Given the description of an element on the screen output the (x, y) to click on. 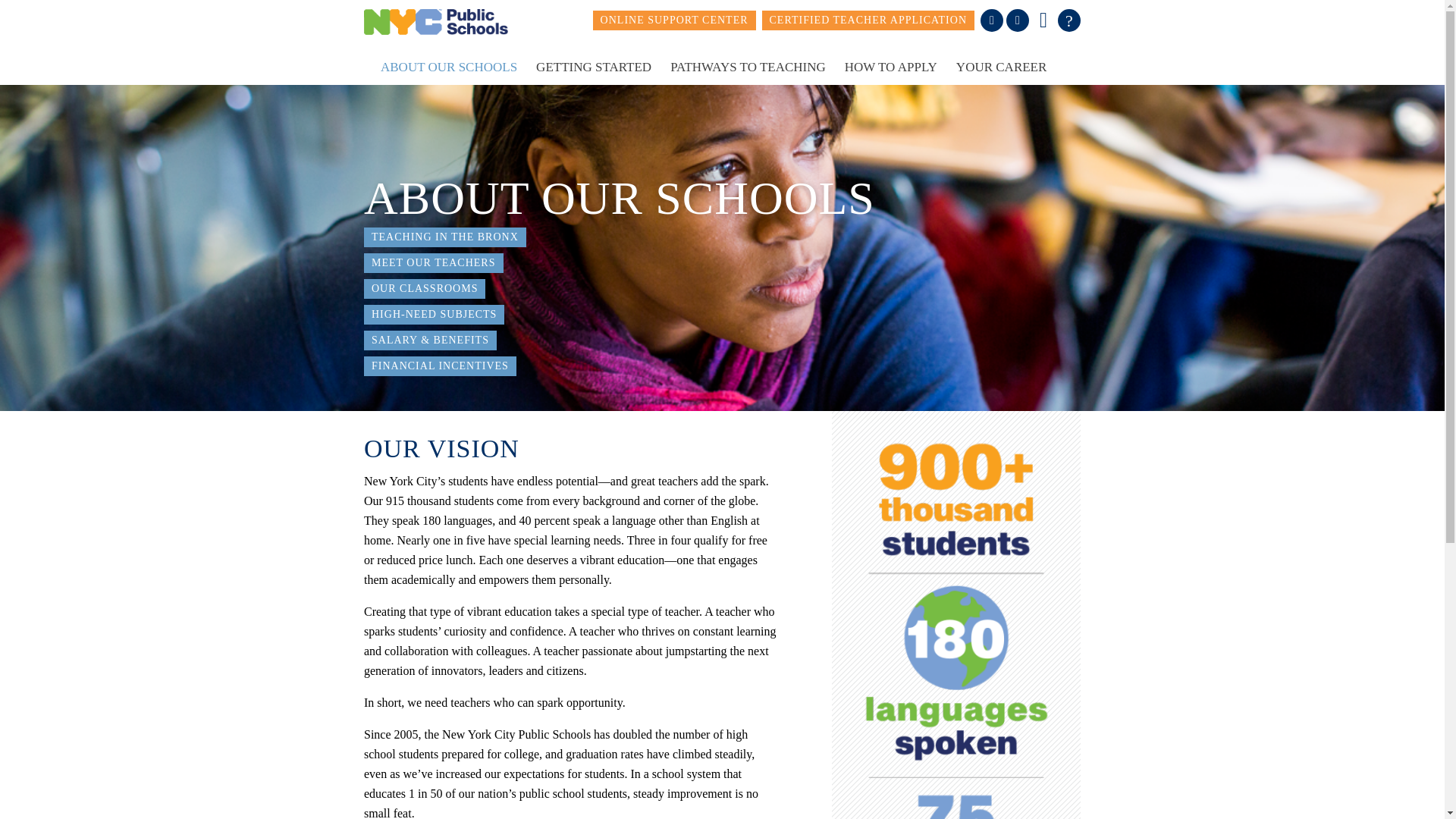
Instagram (1043, 20)
YOUR CAREER (1001, 67)
ABOUT OUR SCHOOLS (448, 67)
CERTIFIED TEACHER APPLICATION (867, 20)
linkedIn (1017, 20)
GETTING STARTED (594, 67)
PATHWAYS TO TEACHING (747, 67)
? (1069, 20)
ONLINE SUPPORT CENTER (673, 20)
Facebook (991, 20)
